Given the description of an element on the screen output the (x, y) to click on. 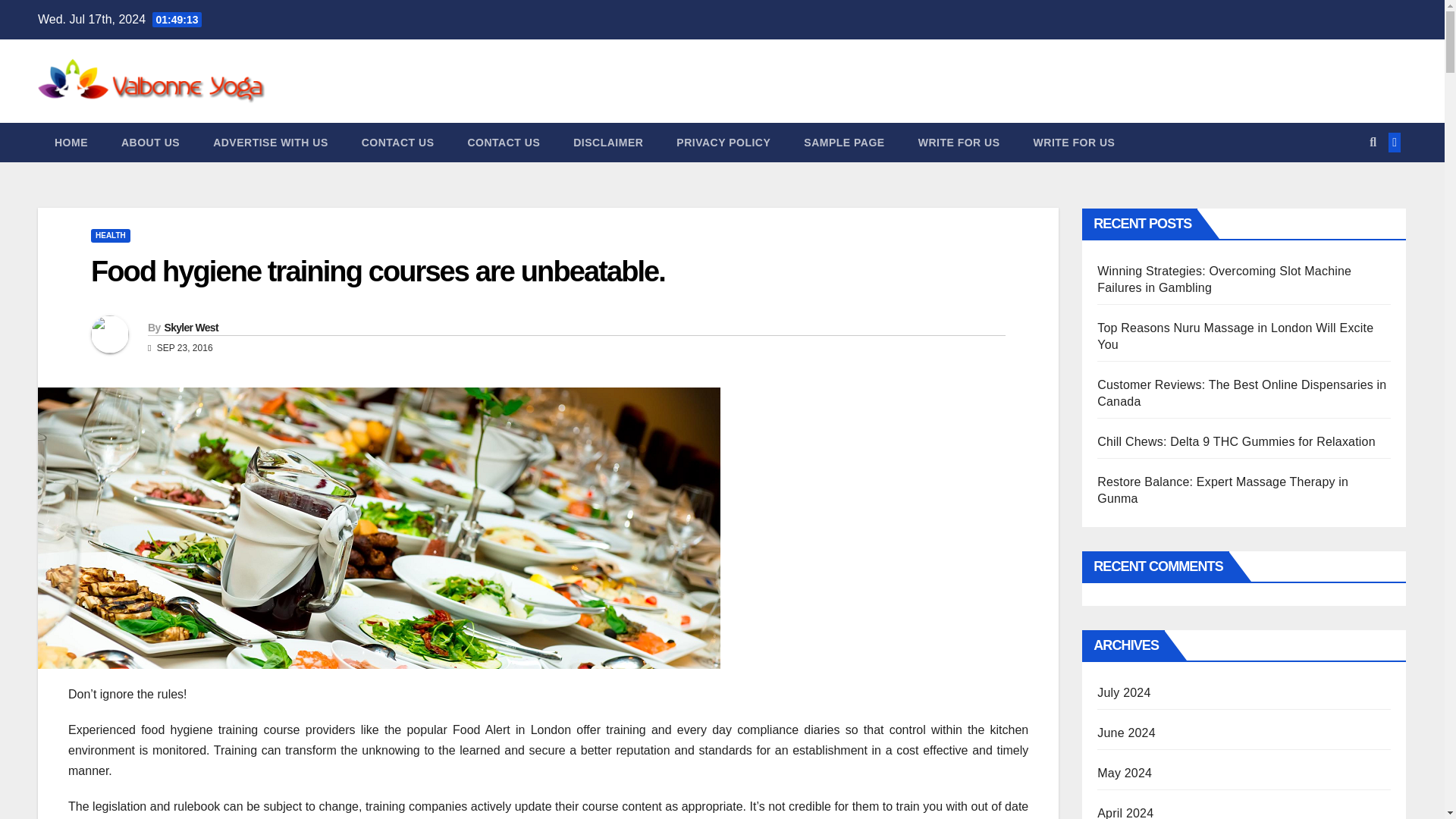
DISCLAIMER (607, 142)
SAMPLE PAGE (844, 142)
Skyler West (189, 327)
Food hygiene training courses are unbeatable. (377, 271)
ADVERTISE WITH US (270, 142)
HEALTH (110, 235)
Permalink to: Food hygiene training courses are unbeatable. (377, 271)
CONTACT US (398, 142)
HOME (70, 142)
CONTACT US (502, 142)
ABOUT US (150, 142)
WRITE FOR US (958, 142)
WRITE FOR US (1074, 142)
Home (70, 142)
PRIVACY POLICY (723, 142)
